Given the description of an element on the screen output the (x, y) to click on. 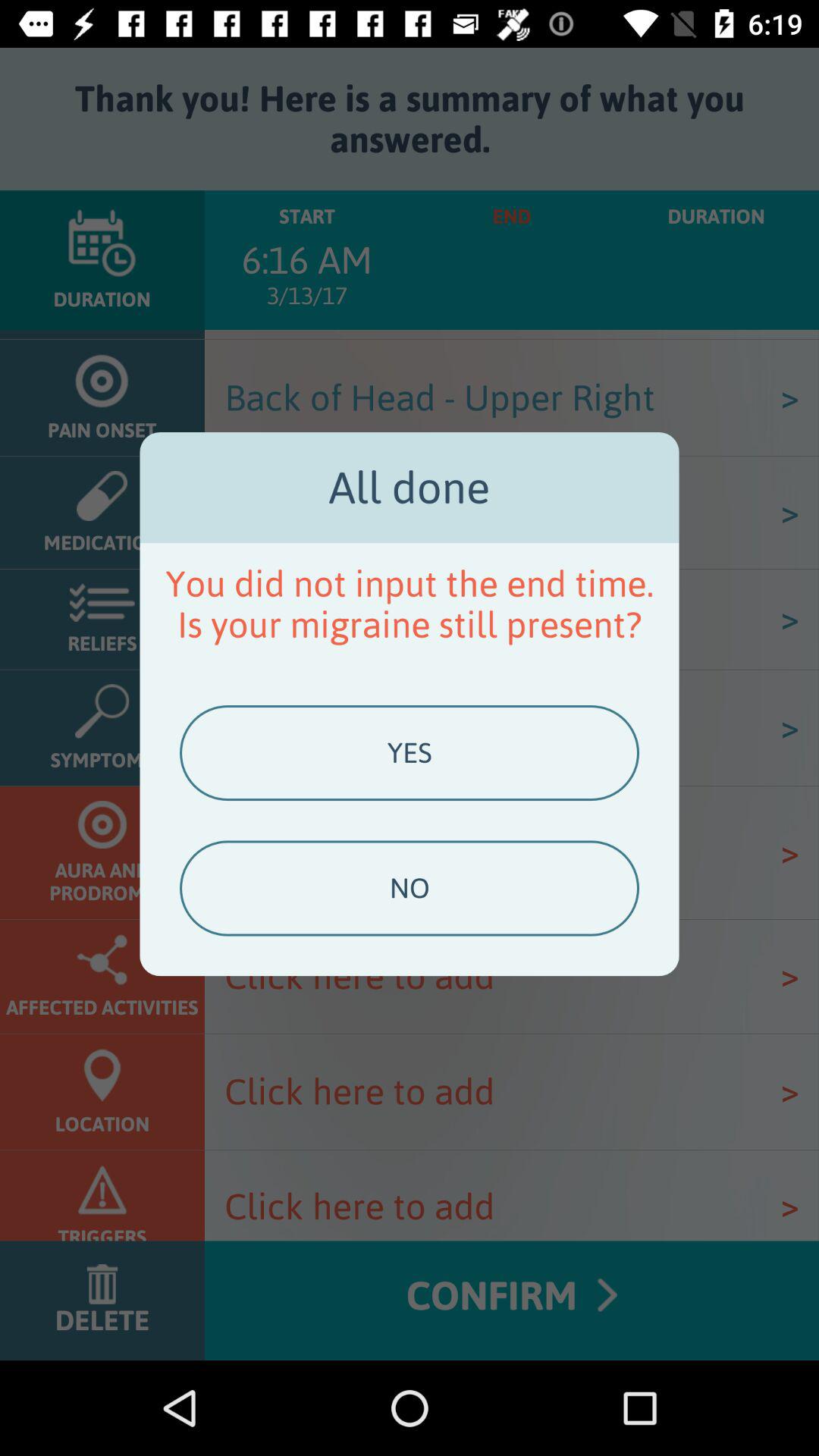
flip to no icon (409, 888)
